Given the description of an element on the screen output the (x, y) to click on. 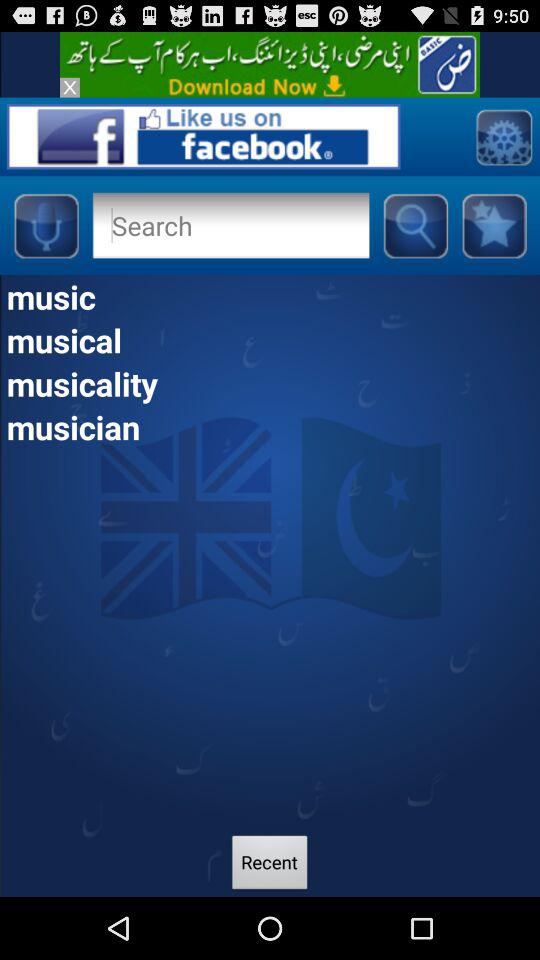
go to settings (503, 136)
